Given the description of an element on the screen output the (x, y) to click on. 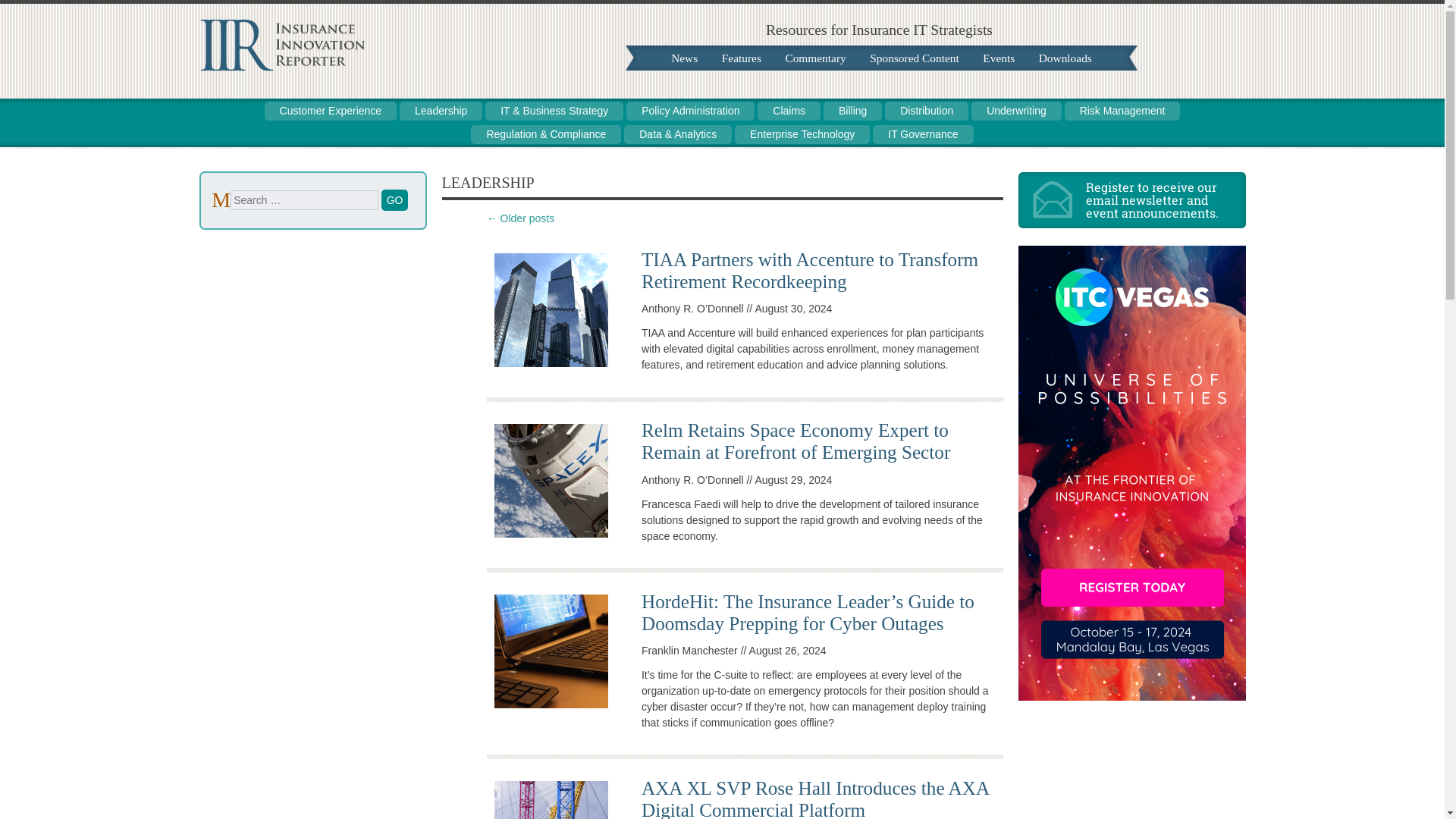
Customer Experience (330, 110)
Claims (789, 110)
Skip to content (679, 57)
Risk Management (1122, 110)
Go (395, 199)
Skip to content (226, 109)
Commentary (815, 57)
Sponsored Content (914, 57)
